Given the description of an element on the screen output the (x, y) to click on. 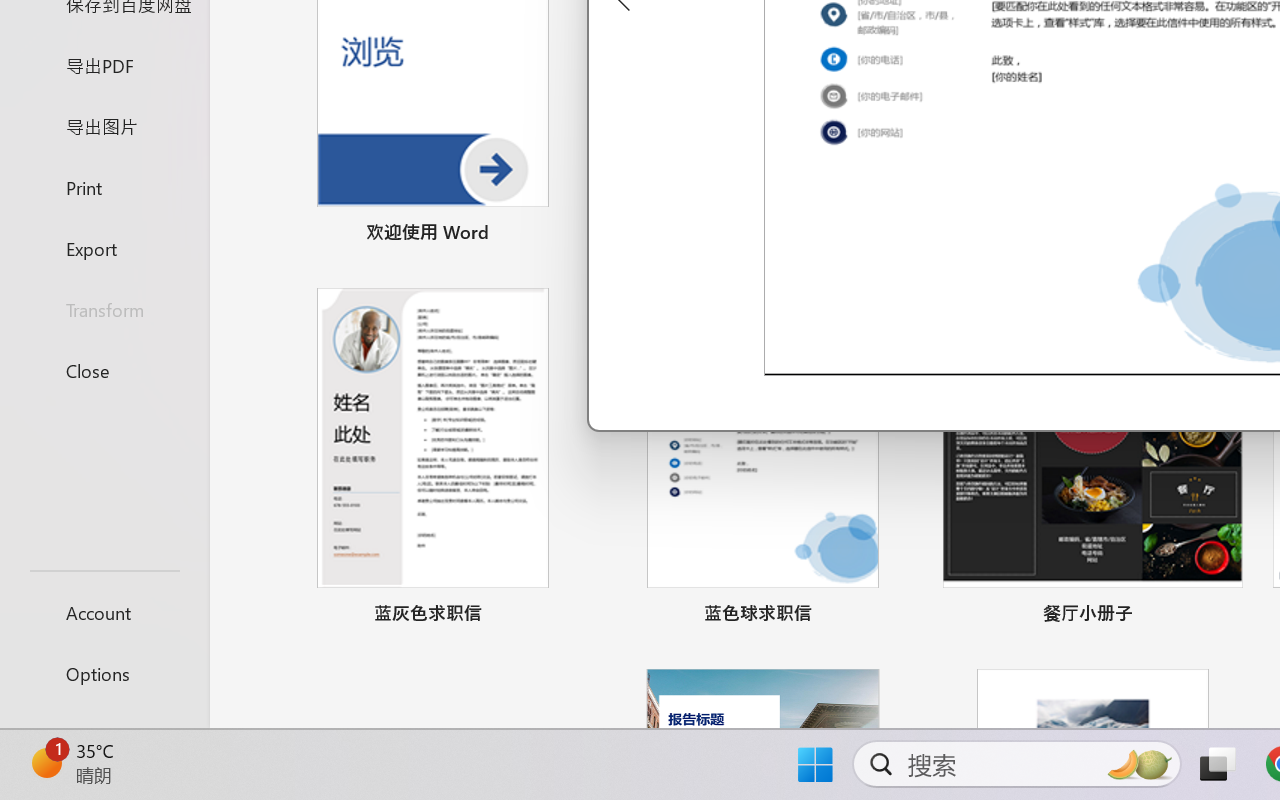
Options (104, 673)
Transform (104, 309)
Account (104, 612)
Export (104, 248)
Print (104, 186)
